Given the description of an element on the screen output the (x, y) to click on. 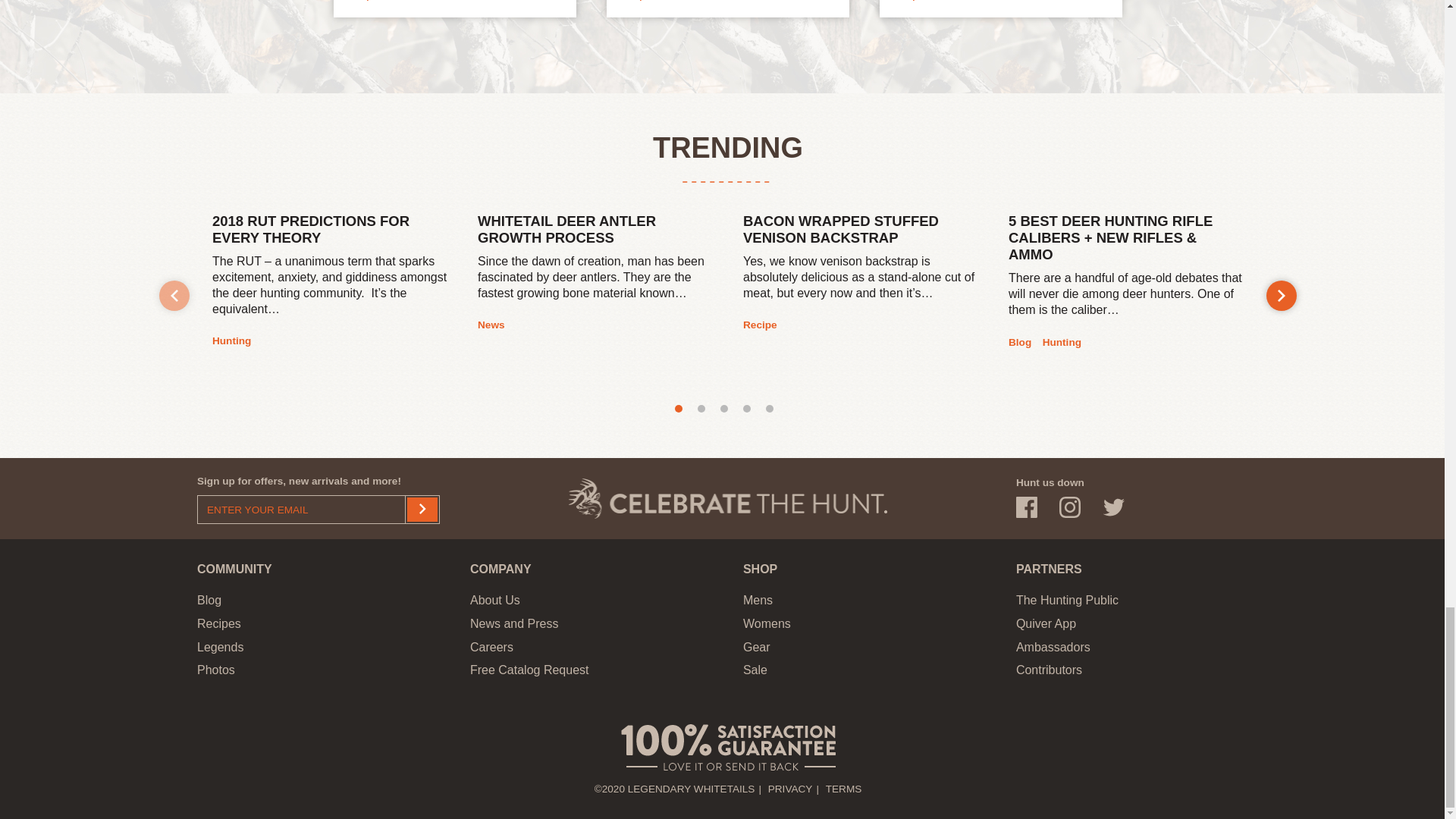
Recipe (362, 1)
